Given the description of an element on the screen output the (x, y) to click on. 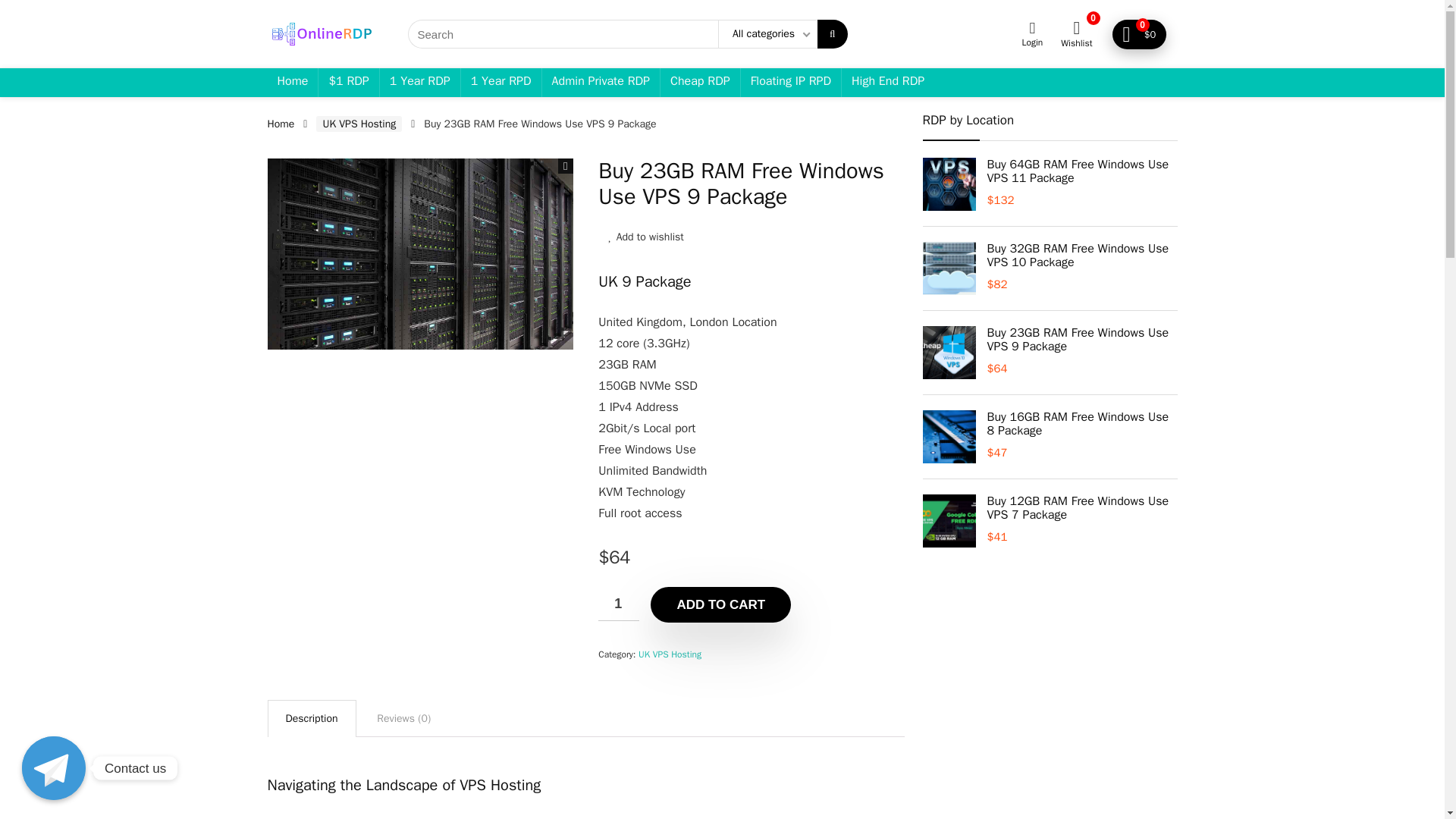
Buy 23GB RAM Free Windows Use VPS 9 Package (419, 253)
UK VPS Hosting (358, 123)
1 Year RPD (501, 82)
High End RDP (887, 82)
UK VPS Hosting (670, 654)
Admin Private RDP (600, 82)
Floating IP RPD (791, 82)
Description (310, 719)
Home (280, 123)
1 Year RDP (420, 82)
